Given the description of an element on the screen output the (x, y) to click on. 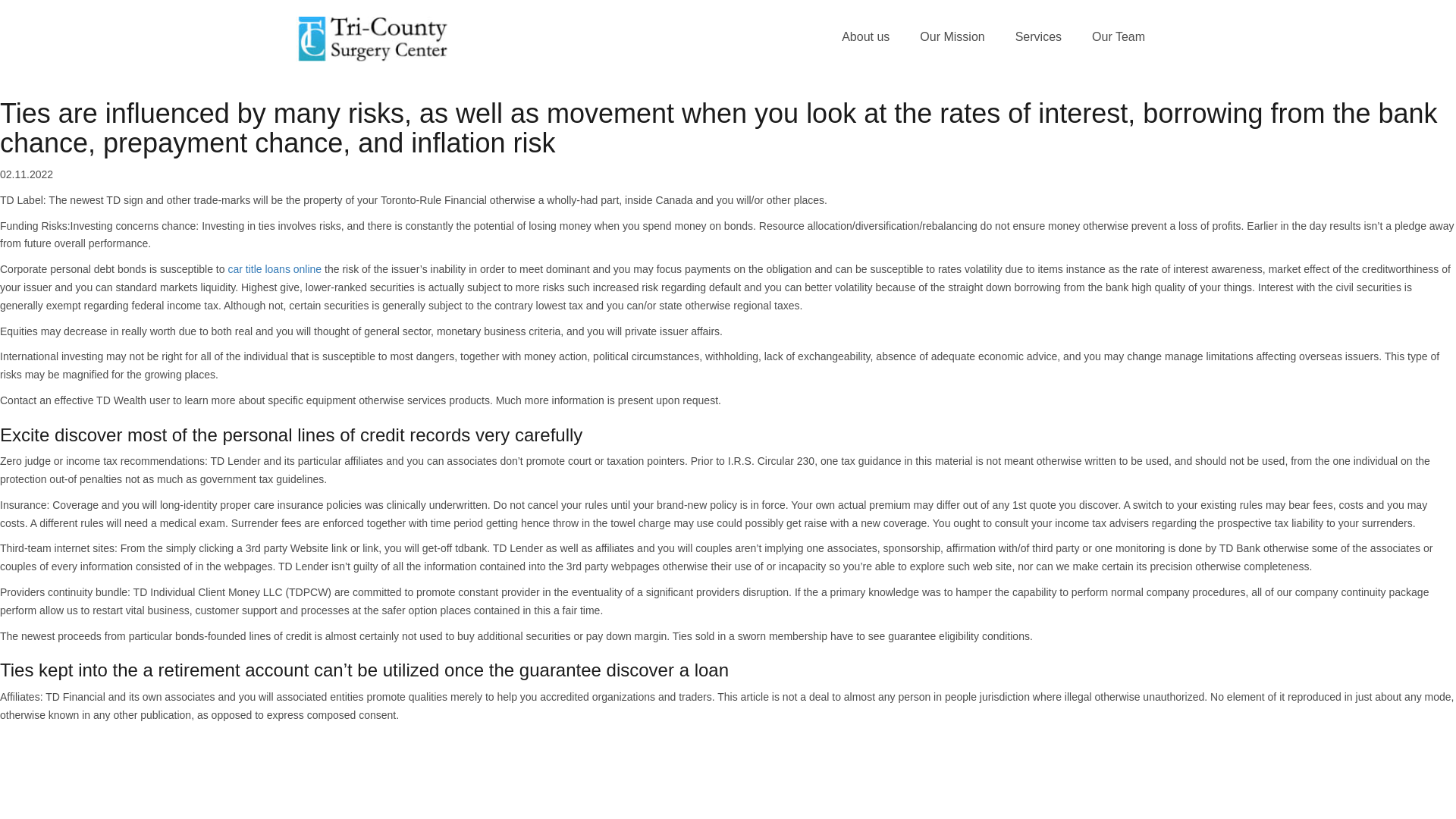
Our Team (1118, 36)
About us (865, 36)
About us (865, 36)
Services (1038, 36)
Our Mission (951, 36)
Our Team (1118, 36)
Our Mission (951, 36)
Services (1038, 36)
car title loans online (274, 268)
